Given the description of an element on the screen output the (x, y) to click on. 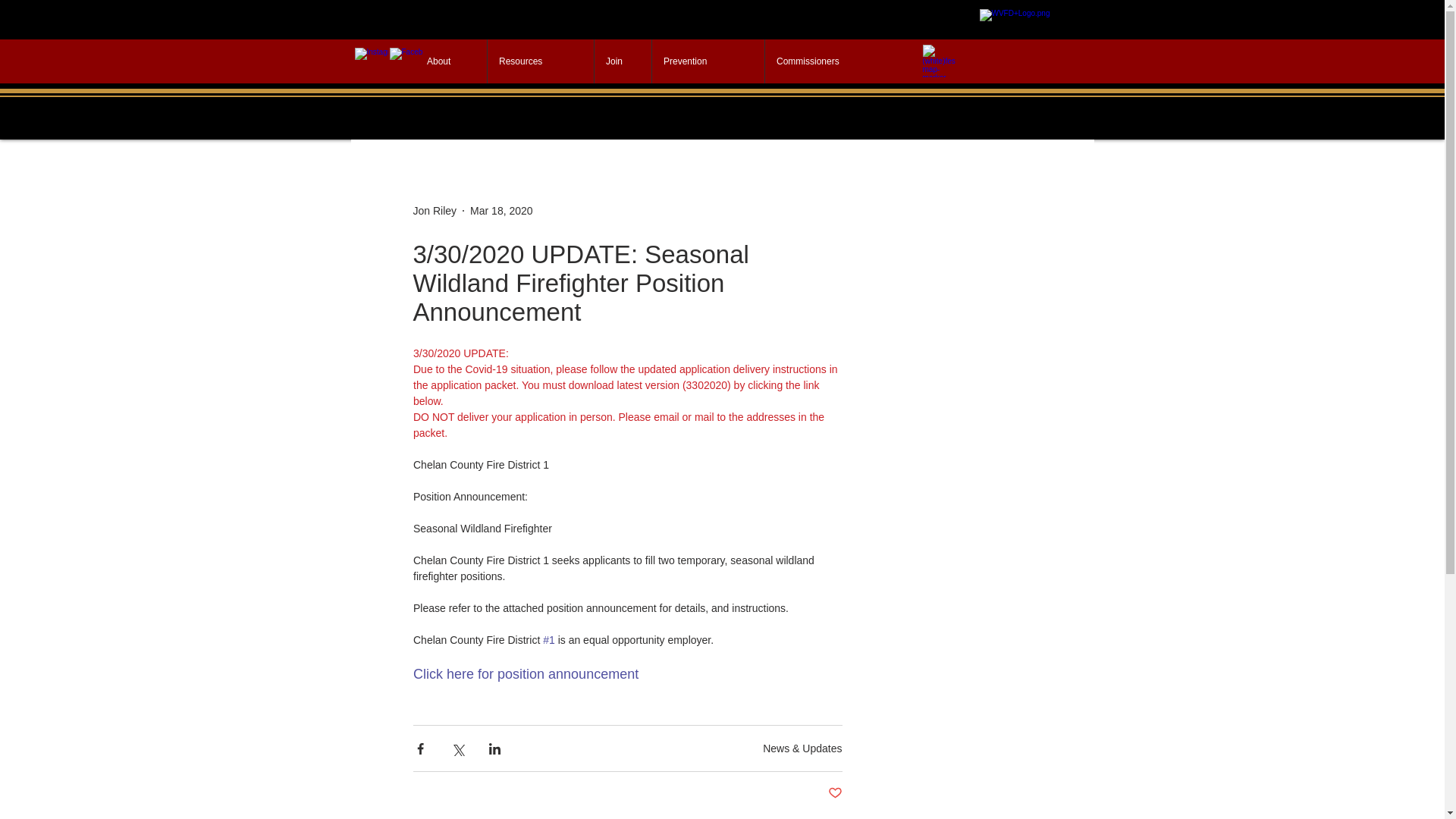
Mar 18, 2020 (501, 210)
Post not marked as liked (835, 793)
Click here for position announcement (524, 673)
Jon Riley (434, 211)
